Given the description of an element on the screen output the (x, y) to click on. 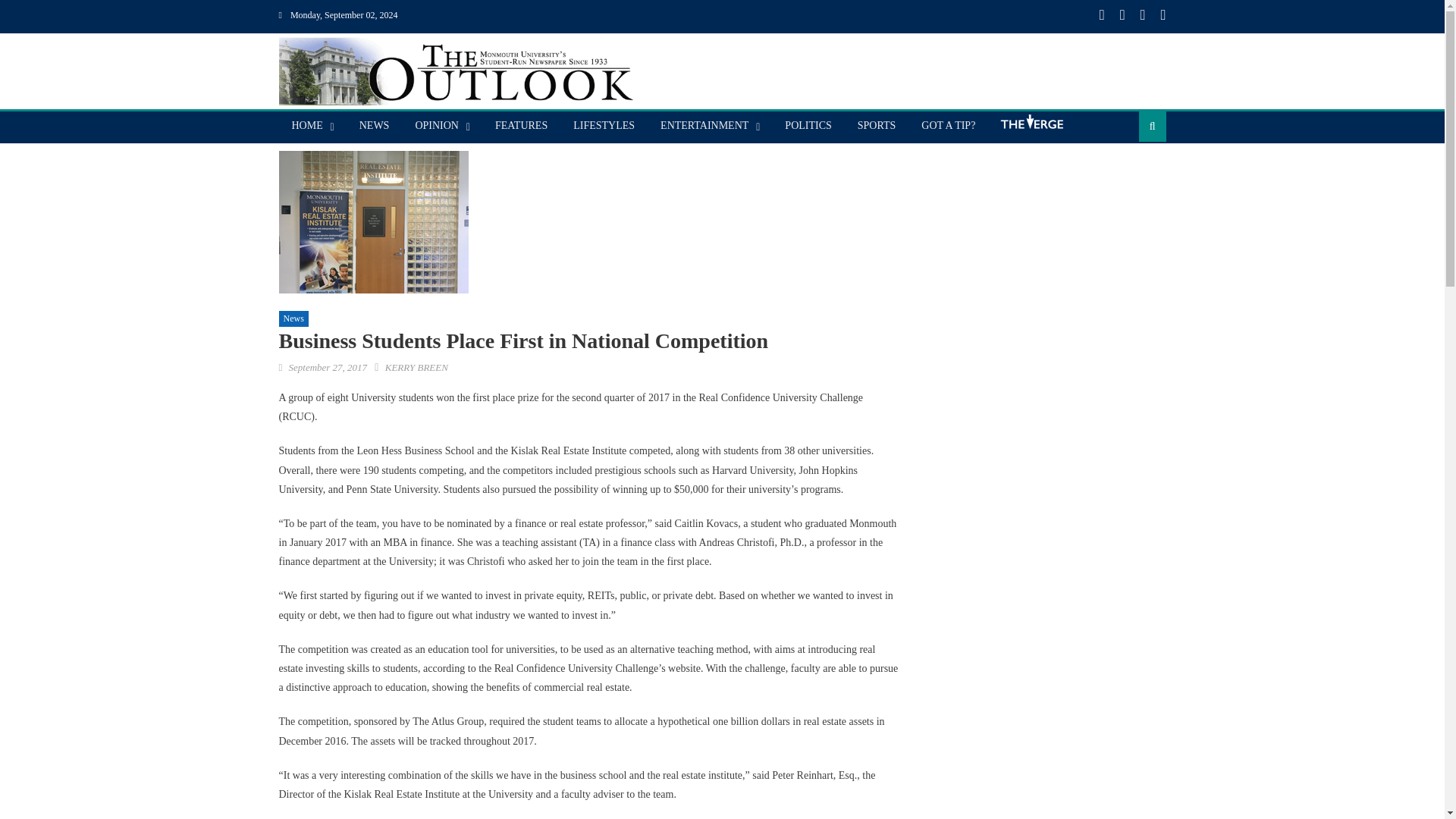
September 27, 2017 (327, 367)
KERRY BREEN (416, 367)
News (293, 319)
GOT A TIP? (948, 125)
Search (1128, 175)
THE VERGE (1030, 127)
NEWS (374, 125)
ENTERTAINMENT (704, 125)
Posts by KERRY BREEN (416, 367)
FEATURES (521, 125)
